Given the description of an element on the screen output the (x, y) to click on. 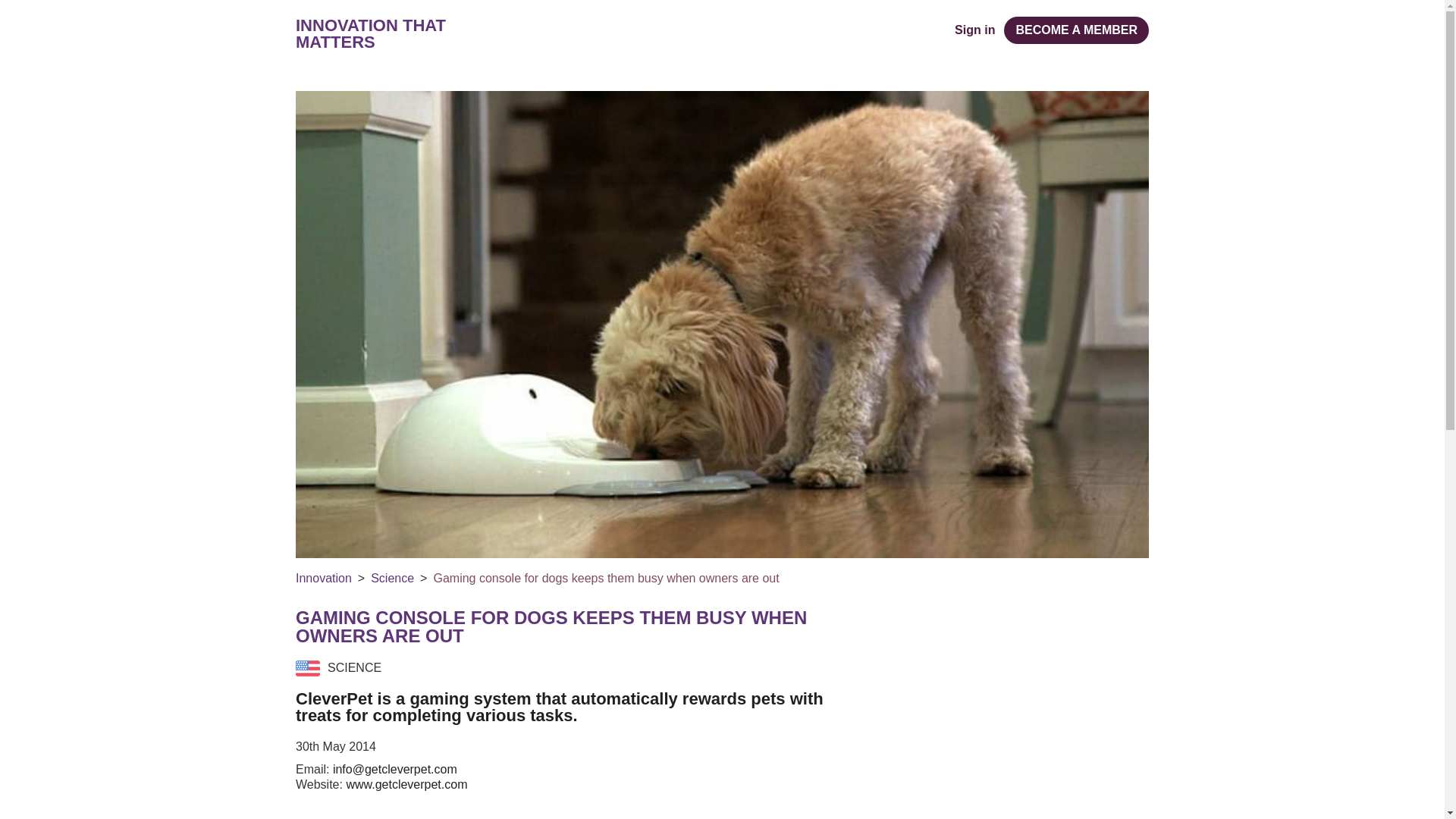
Sign in (974, 30)
Linked In (1110, 616)
Innovation (323, 578)
Tumblr (1079, 616)
Home (721, 29)
Springwise (721, 29)
Facebook (1018, 616)
Science (392, 578)
BECOME A MEMBER (1076, 30)
Twitter (1049, 616)
